Given the description of an element on the screen output the (x, y) to click on. 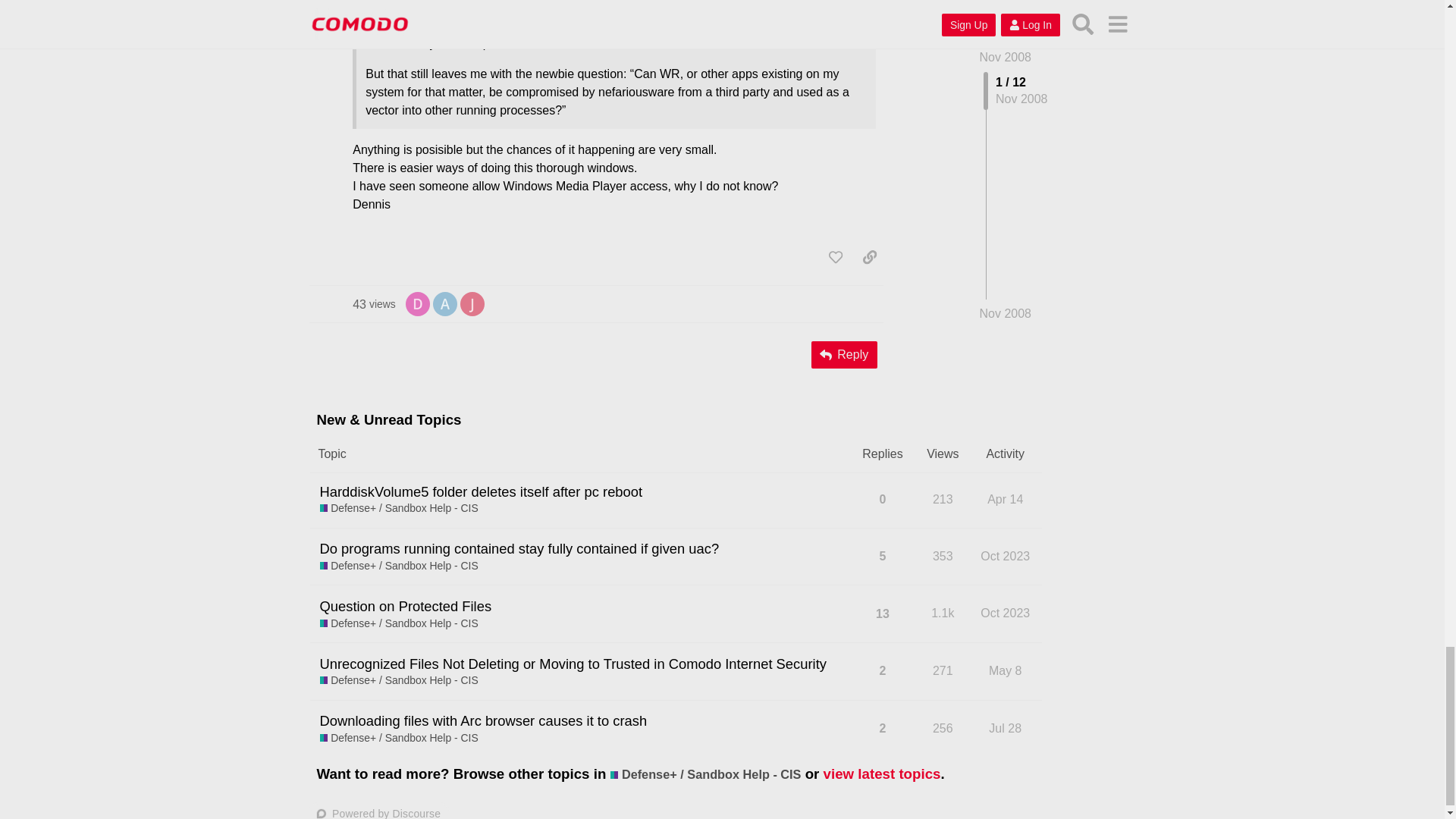
John Buchanan (472, 303)
jebuchanan (472, 302)
archer53 (444, 303)
Dennis2 (417, 302)
archer53 (444, 302)
Dennis2 (417, 303)
